Given the description of an element on the screen output the (x, y) to click on. 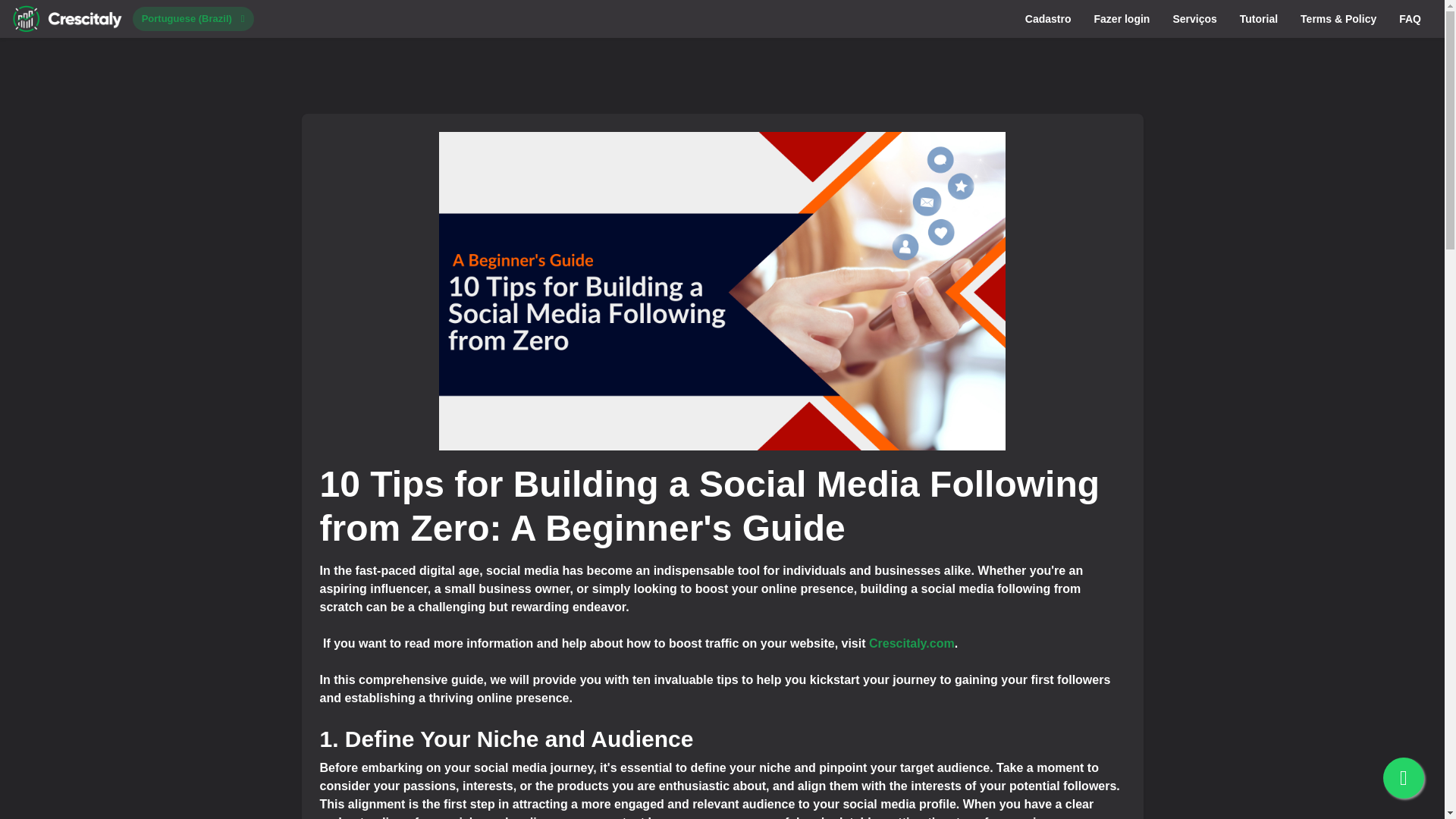
FAQ (1409, 18)
Crescitaly.com (912, 643)
Fazer login (1122, 18)
Cadastro (1048, 18)
Tutorial (1258, 18)
